Given the description of an element on the screen output the (x, y) to click on. 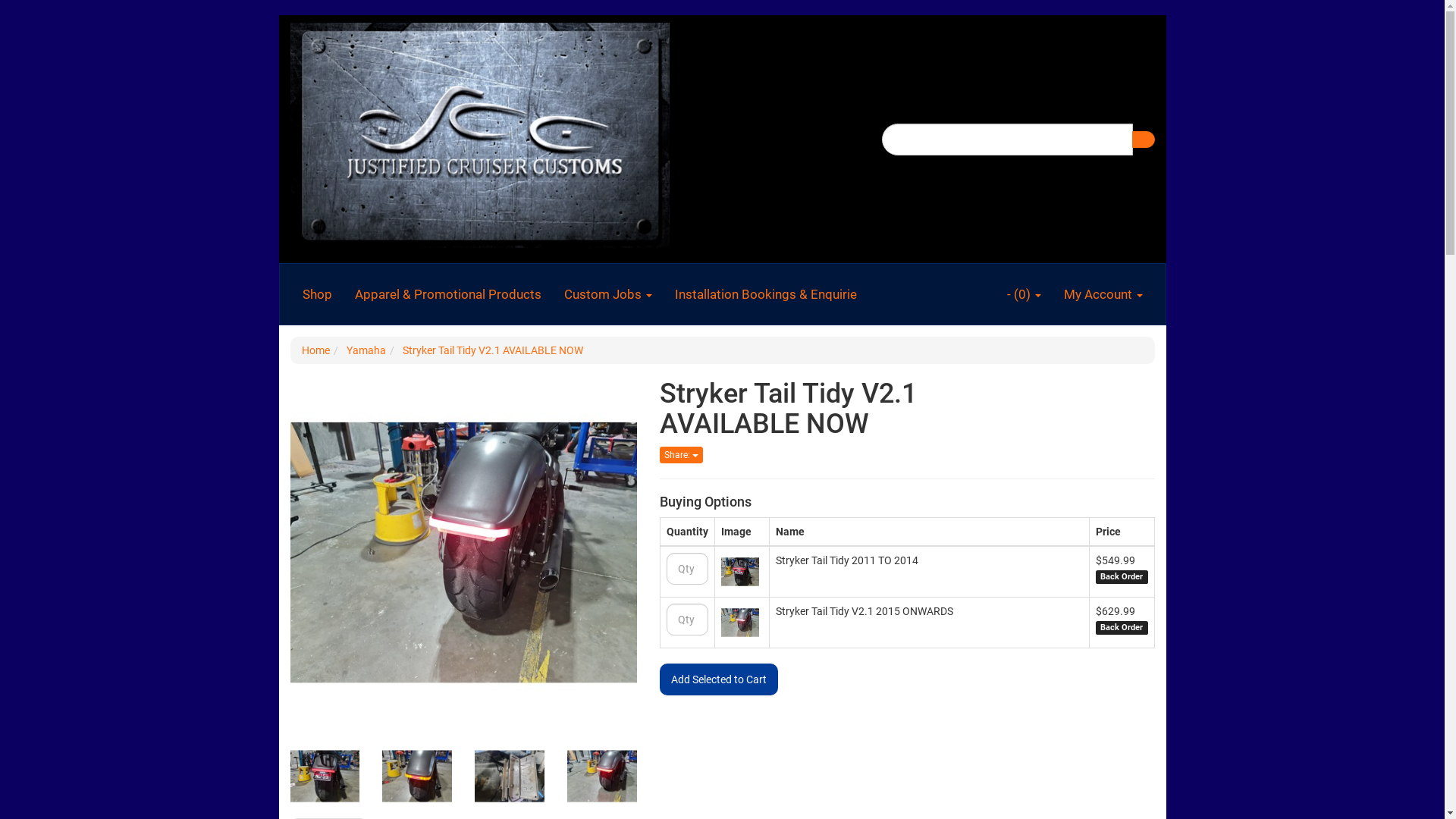
Yamaha Element type: text (365, 350)
Share: Element type: text (680, 454)
Home Element type: text (315, 350)
Large View Element type: hover (602, 776)
Large View Element type: hover (324, 776)
Add Selected to Cart Element type: text (718, 679)
Custom Jobs Element type: text (607, 293)
Apparel & Promotional Products Element type: text (447, 293)
Stryker Tail Tidy V2.1 AVAILABLE NOW Element type: text (491, 350)
My Account Element type: text (1103, 293)
Shop Element type: text (317, 293)
Search Element type: text (1142, 138)
- (0) Element type: text (1022, 293)
Installation Bookings & Enquirie Element type: text (764, 293)
Justified Cruiser Customs Element type: hover (478, 130)
Large View Element type: hover (509, 776)
Large View Element type: hover (416, 776)
